Given the description of an element on the screen output the (x, y) to click on. 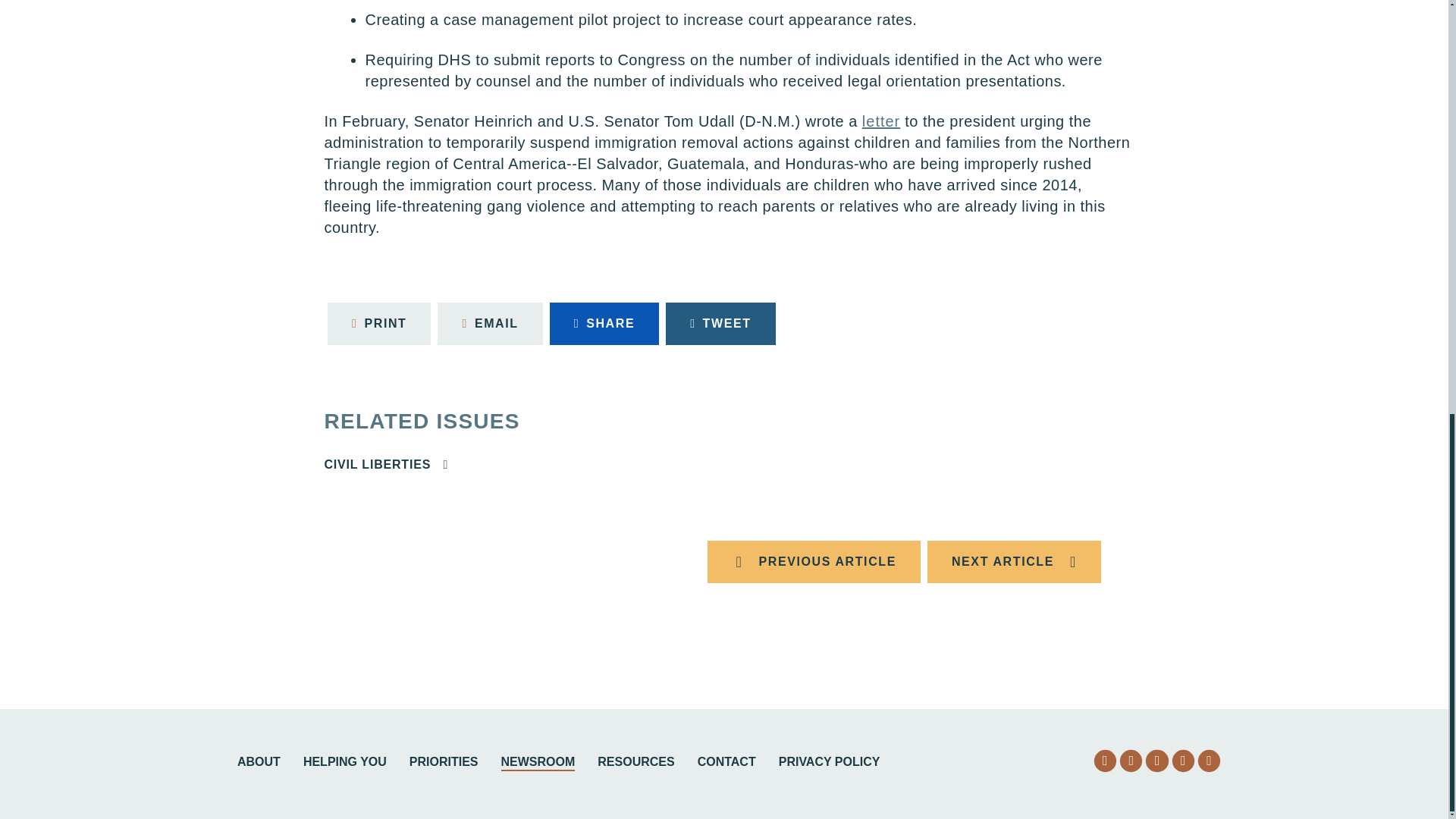
Helping You (344, 763)
Resources (635, 763)
About (259, 763)
Contact (726, 763)
Priorities (444, 763)
Privacy Policy (829, 763)
Newsroom (537, 763)
